Given the description of an element on the screen output the (x, y) to click on. 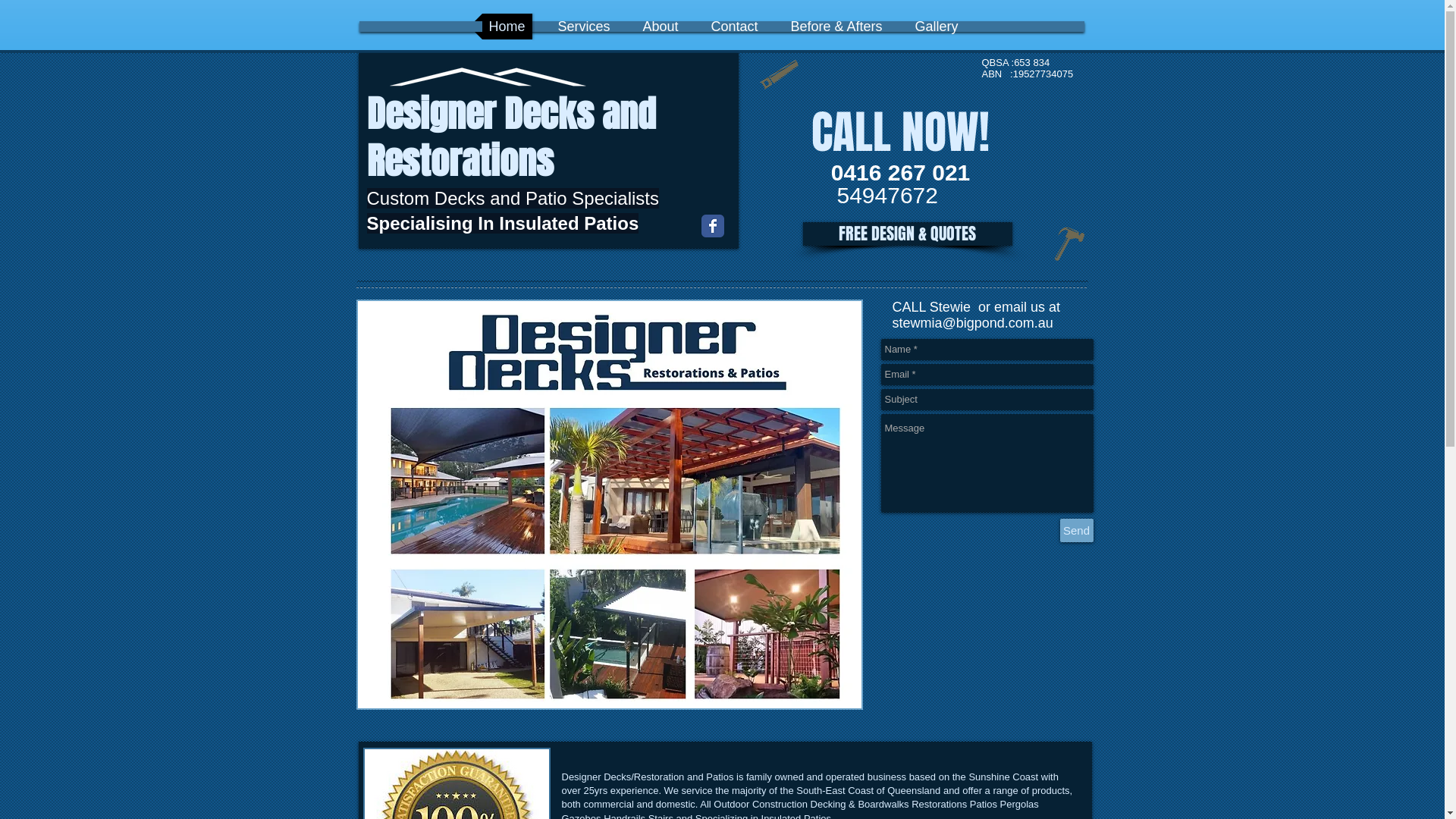
Gallery Element type: text (936, 26)
stewmia@bigpond.com.au Element type: text (971, 322)
Contact Element type: text (733, 26)
Before & Afters Element type: text (836, 26)
Send Element type: text (1076, 530)
Home Element type: text (506, 26)
About Element type: text (659, 26)
Services Element type: text (583, 26)
